Given the description of an element on the screen output the (x, y) to click on. 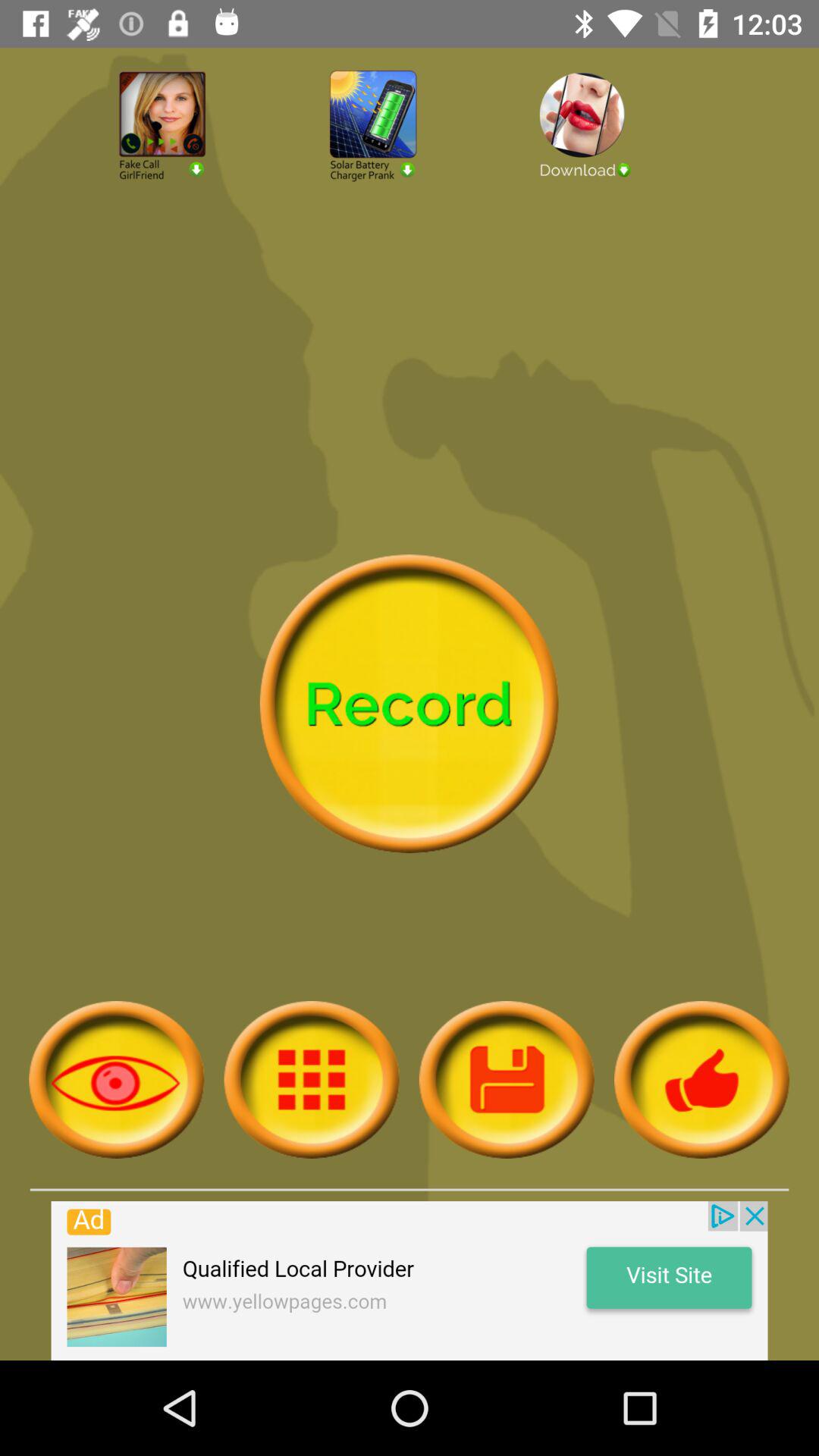
fake girlfriend prank button (199, 166)
